Given the description of an element on the screen output the (x, y) to click on. 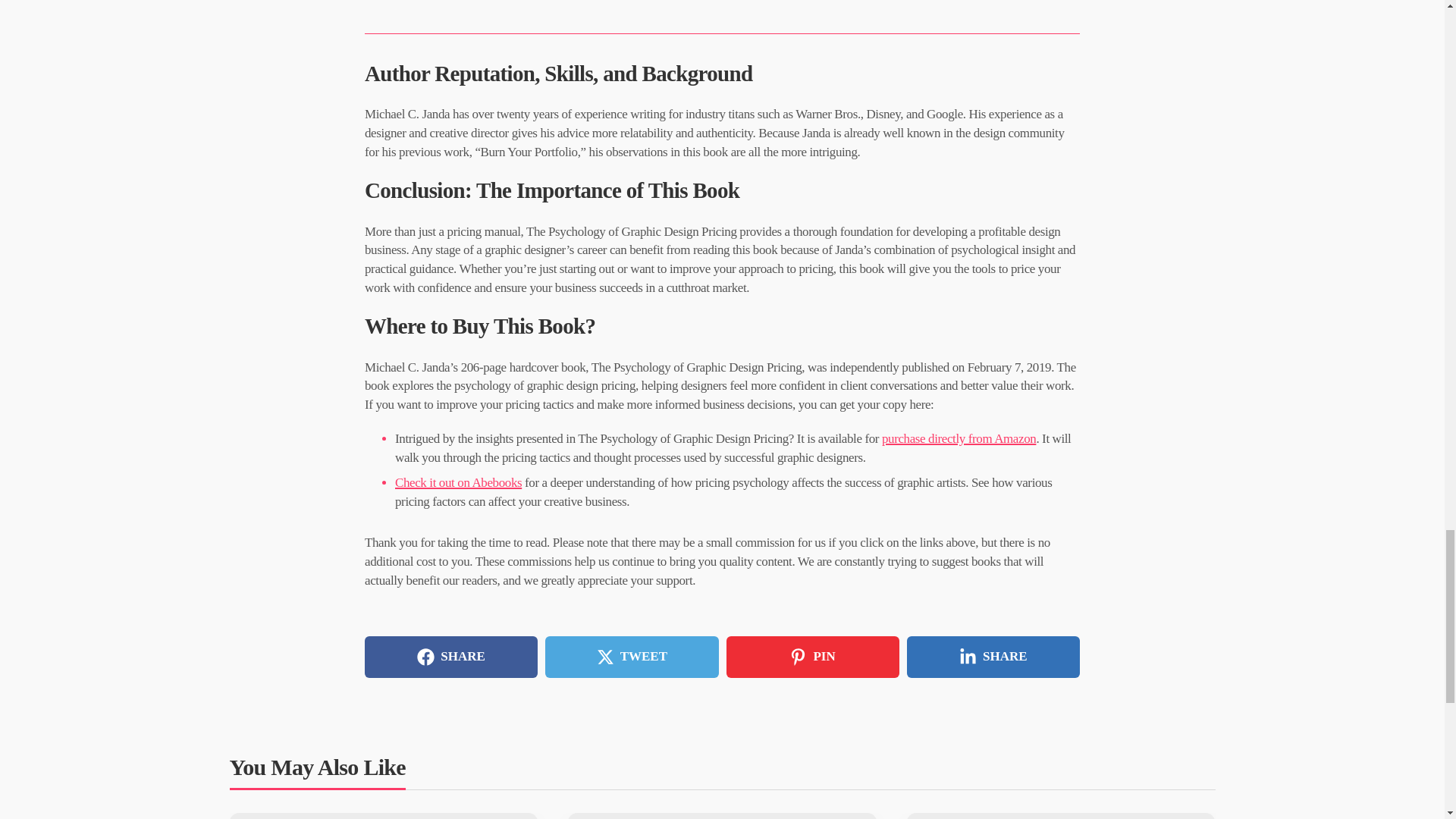
Graphic Design Handbook: Improve Productivity and Save Time (382, 816)
Graphic Design Play Book: An Exploration of Visual Thinking (721, 816)
